Given the description of an element on the screen output the (x, y) to click on. 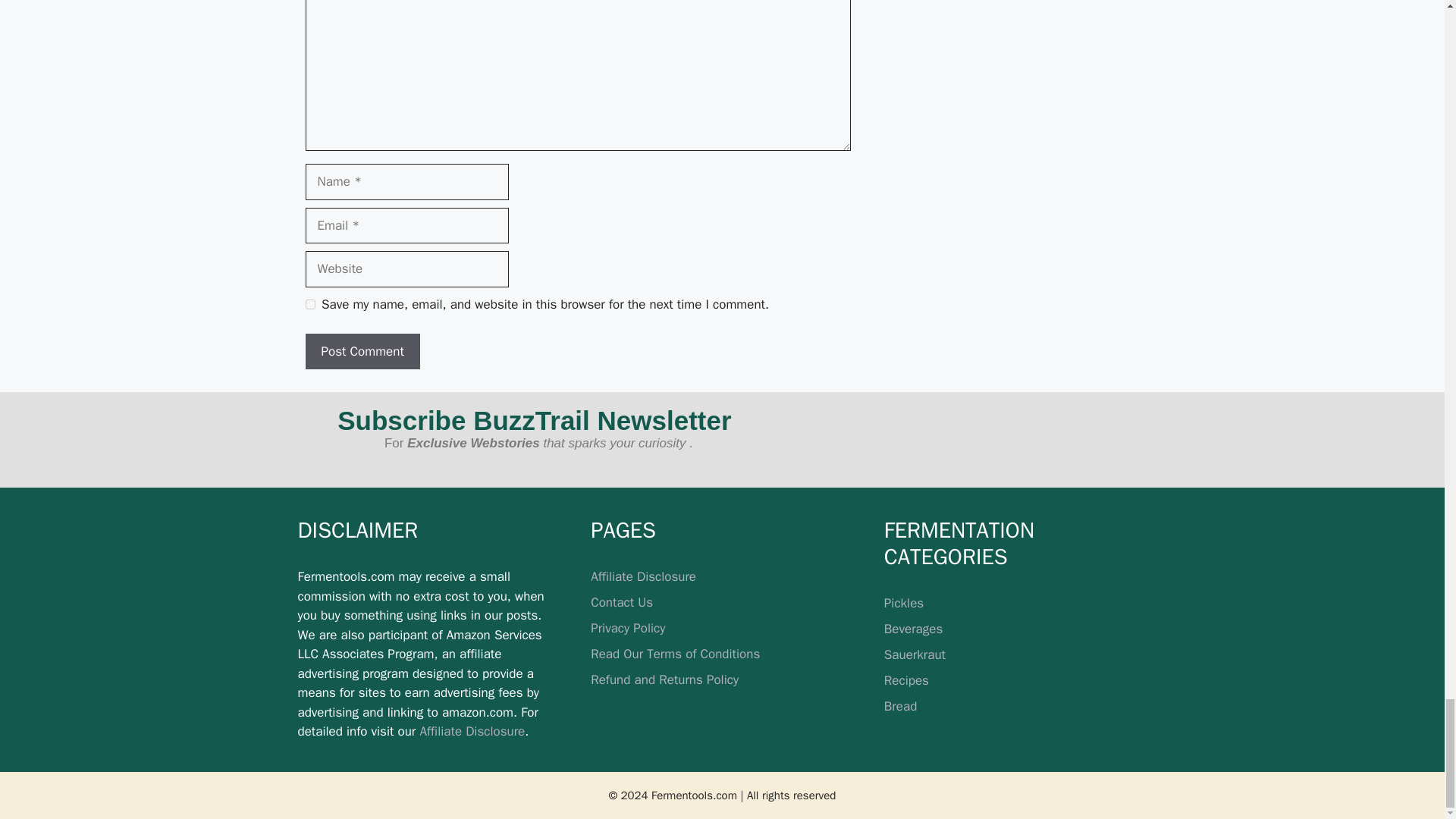
yes (309, 304)
Post Comment (361, 351)
Post Comment (361, 351)
